Given the description of an element on the screen output the (x, y) to click on. 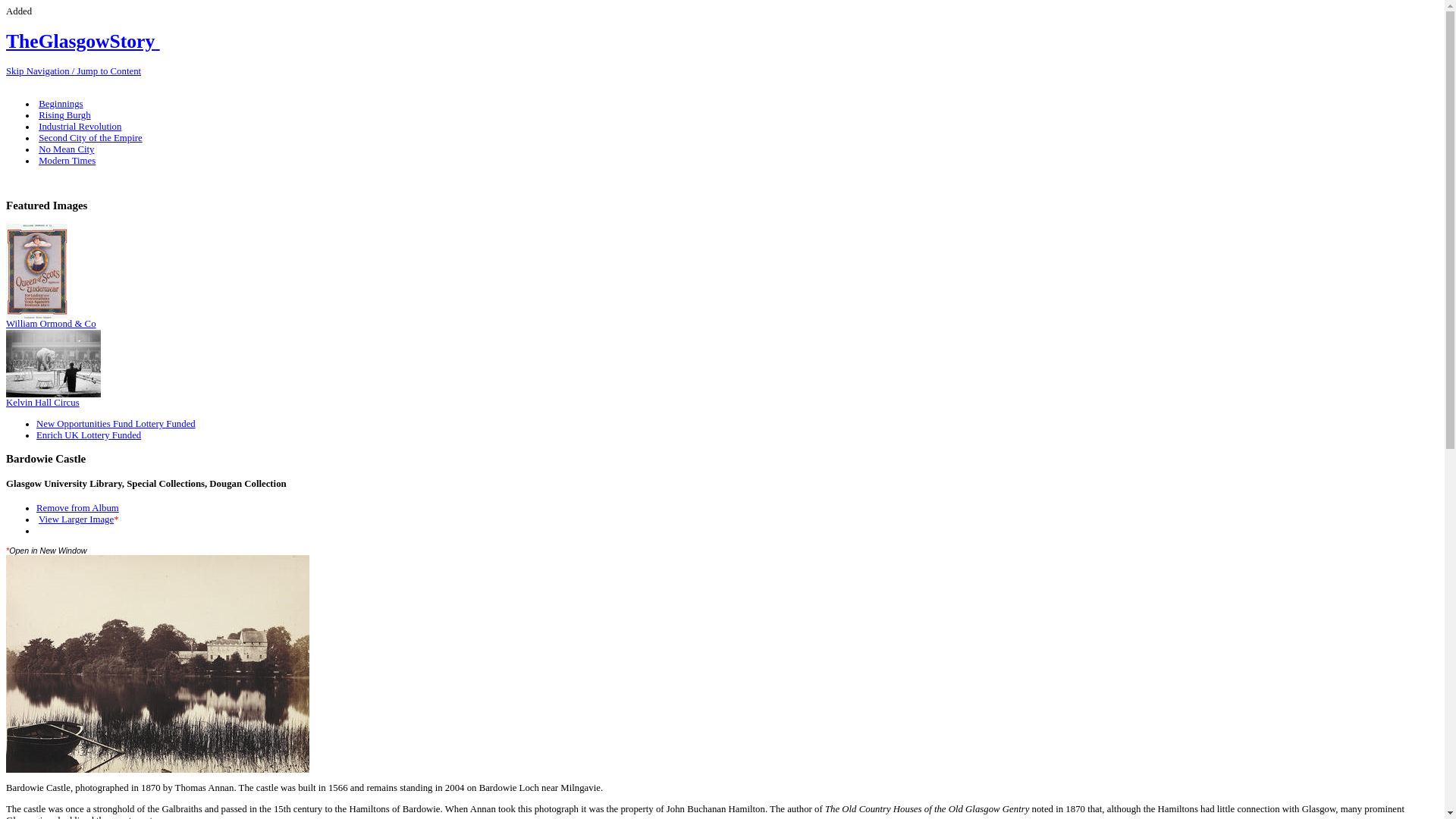
Second City of the Empire: 1830s to 1914 (90, 137)
Modern Times (67, 160)
Rising Burgh (64, 114)
Kelvin Hall Circus (52, 363)
Kelvin Hall Circus (52, 398)
Second City of the Empire (90, 137)
Industrial Revolution: 1770s to 1830s (79, 126)
Enrich UK Lottery Funded (88, 434)
TheGlasgowStory Home - Access Key H (82, 41)
View Larger Image (76, 519)
